Given the description of an element on the screen output the (x, y) to click on. 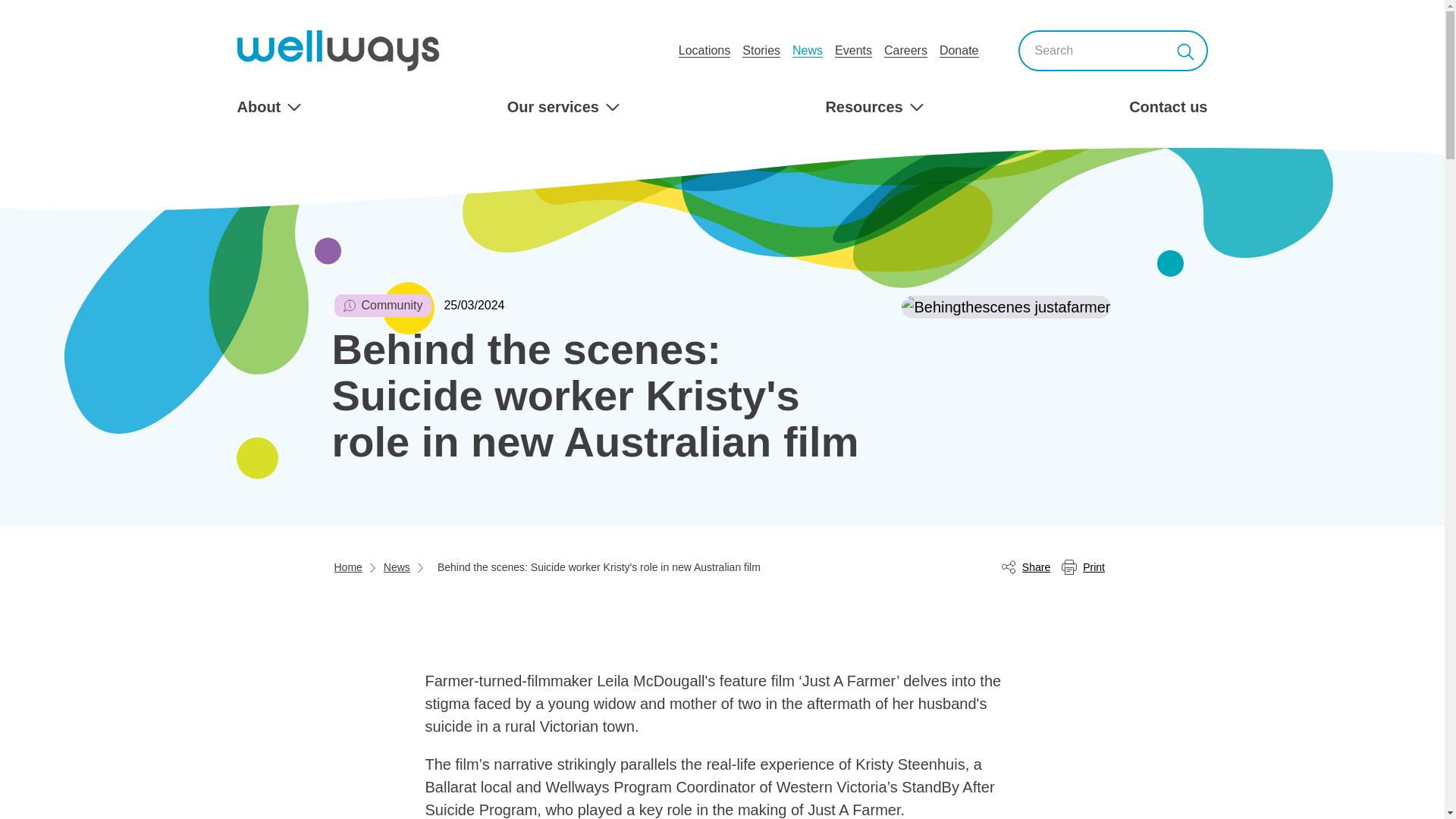
Stories (761, 50)
Resources (873, 106)
Contact us (1168, 106)
Search (1184, 50)
Donate (958, 50)
Behingthescenes justafarmer (1005, 306)
News (807, 50)
Locations (704, 50)
About (267, 106)
Our services (562, 106)
Search (1183, 49)
Events (853, 50)
Careers (905, 50)
